Given the description of an element on the screen output the (x, y) to click on. 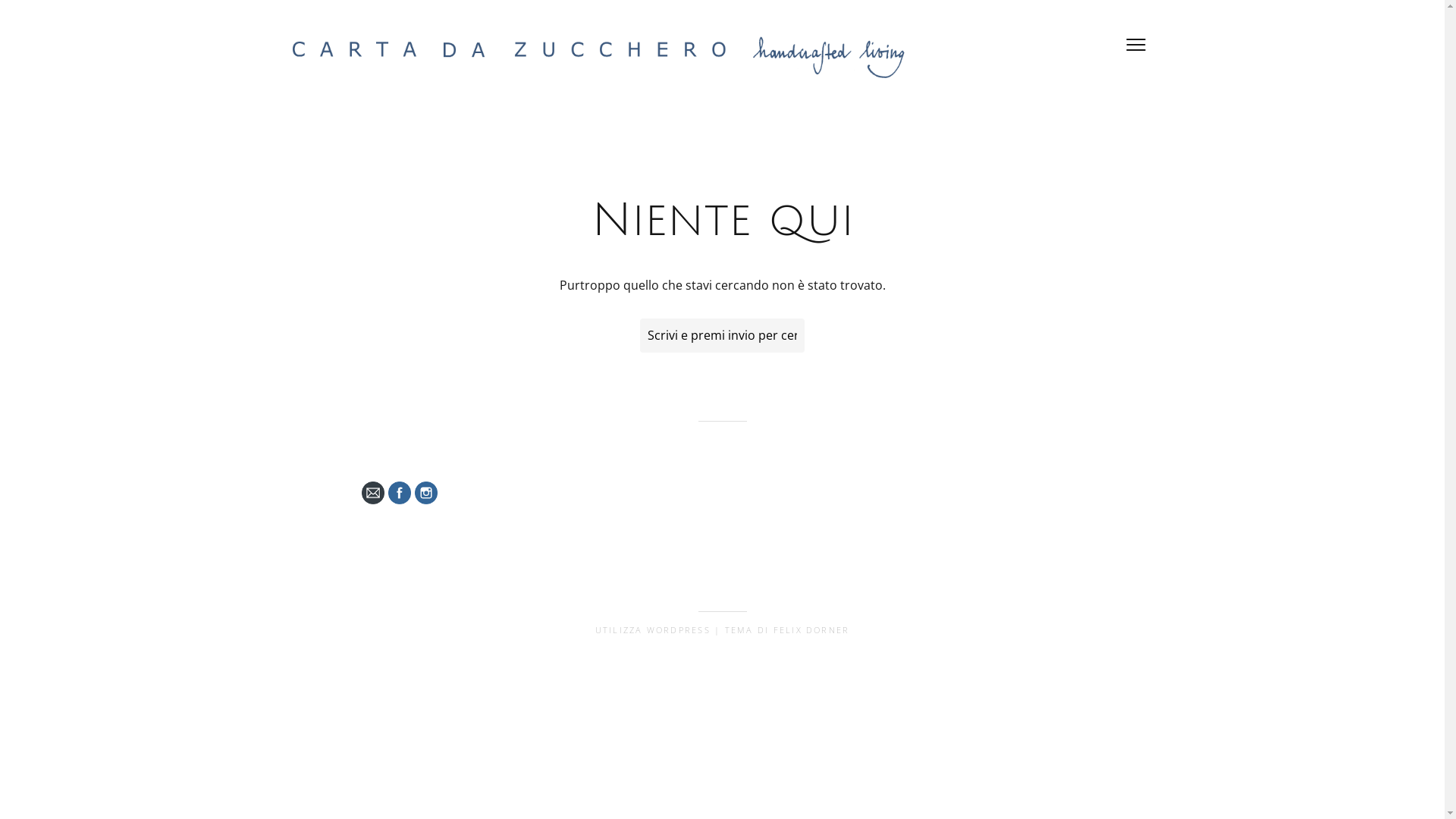
Follow by Email Element type: hover (371, 492)
UTILIZZA WORDPRESS Element type: text (652, 629)
Instagram Element type: hover (425, 492)
Facebook Element type: hover (399, 492)
TEMA DI FELIX DORNER Element type: text (787, 629)
